Given the description of an element on the screen output the (x, y) to click on. 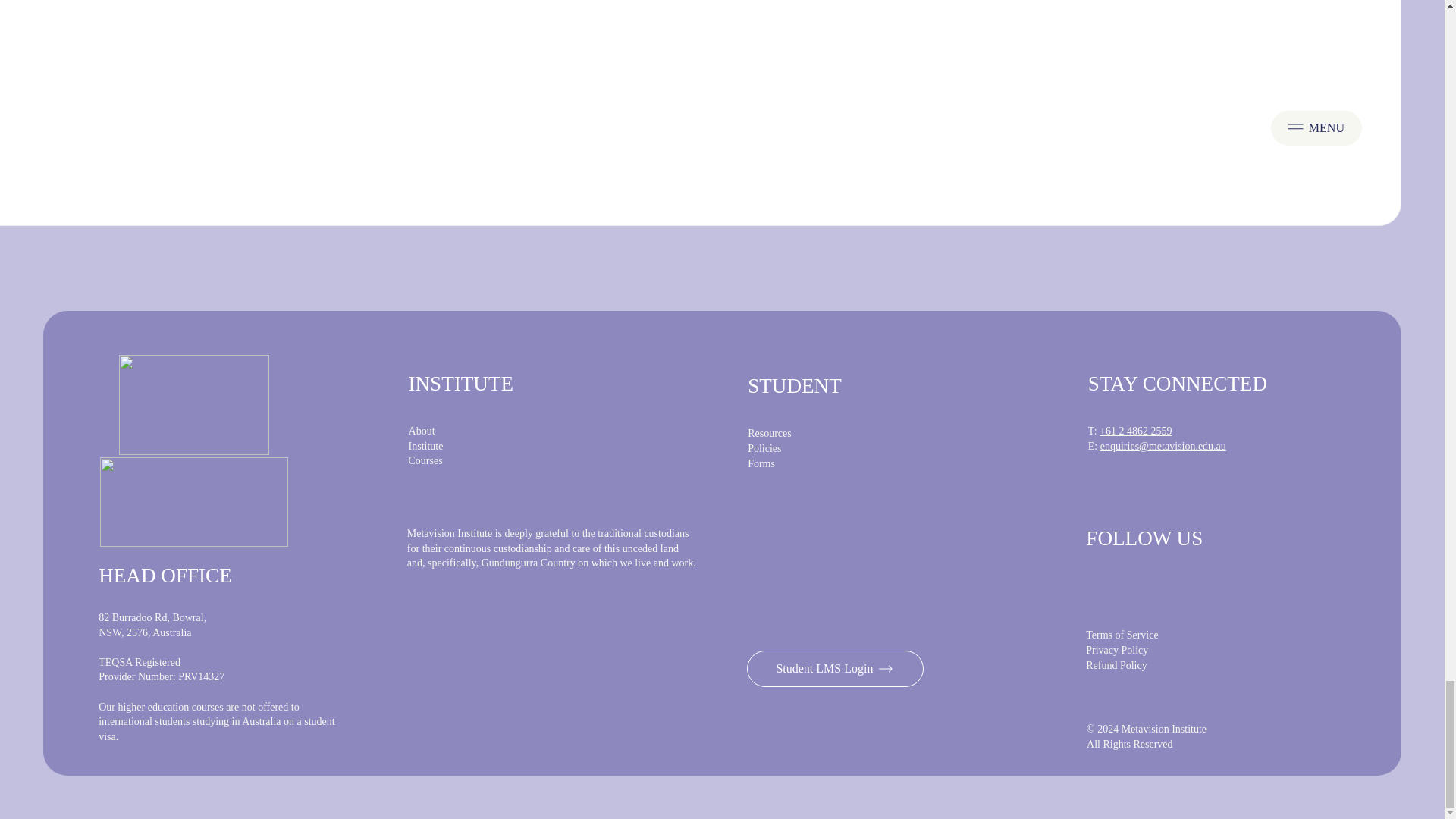
Privacy Policy (1117, 650)
Policies (764, 448)
About (422, 430)
Terms of Service (1121, 634)
Courses (425, 460)
Institute (426, 446)
Forms (761, 463)
Resources (770, 432)
Refund Policy (1116, 665)
Student LMS Login (835, 668)
